Given the description of an element on the screen output the (x, y) to click on. 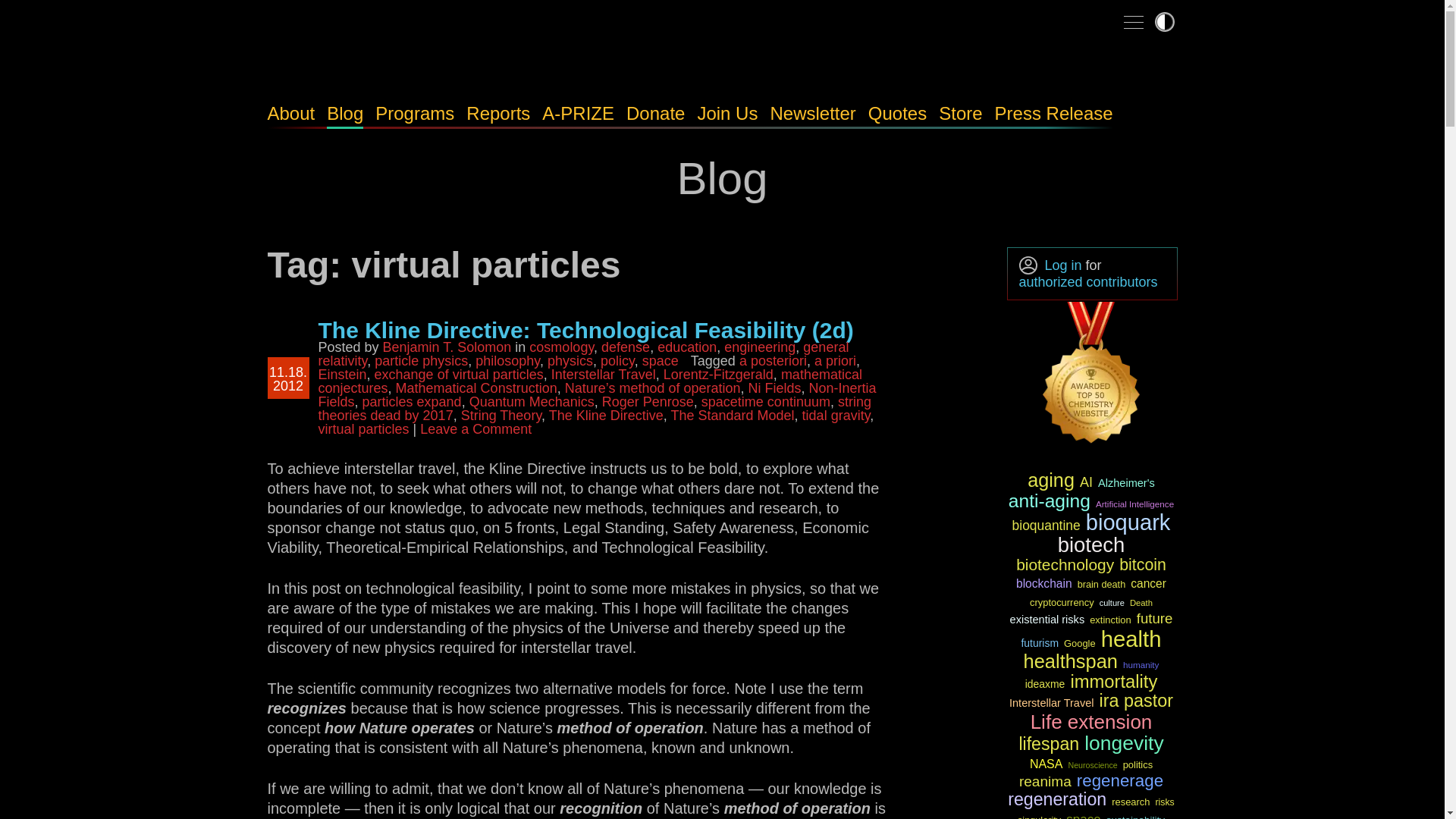
Lifeboat Foundation: Safeguarding Humanity (395, 62)
Donate (655, 113)
About (290, 113)
Programs (414, 113)
Store (960, 113)
Reports (497, 113)
Newsletter (813, 113)
Quotes (896, 113)
Blog (344, 113)
Chemistry Websites (1092, 374)
A-PRIZE (577, 113)
Join Us (727, 113)
Press Release (1053, 113)
